Given the description of an element on the screen output the (x, y) to click on. 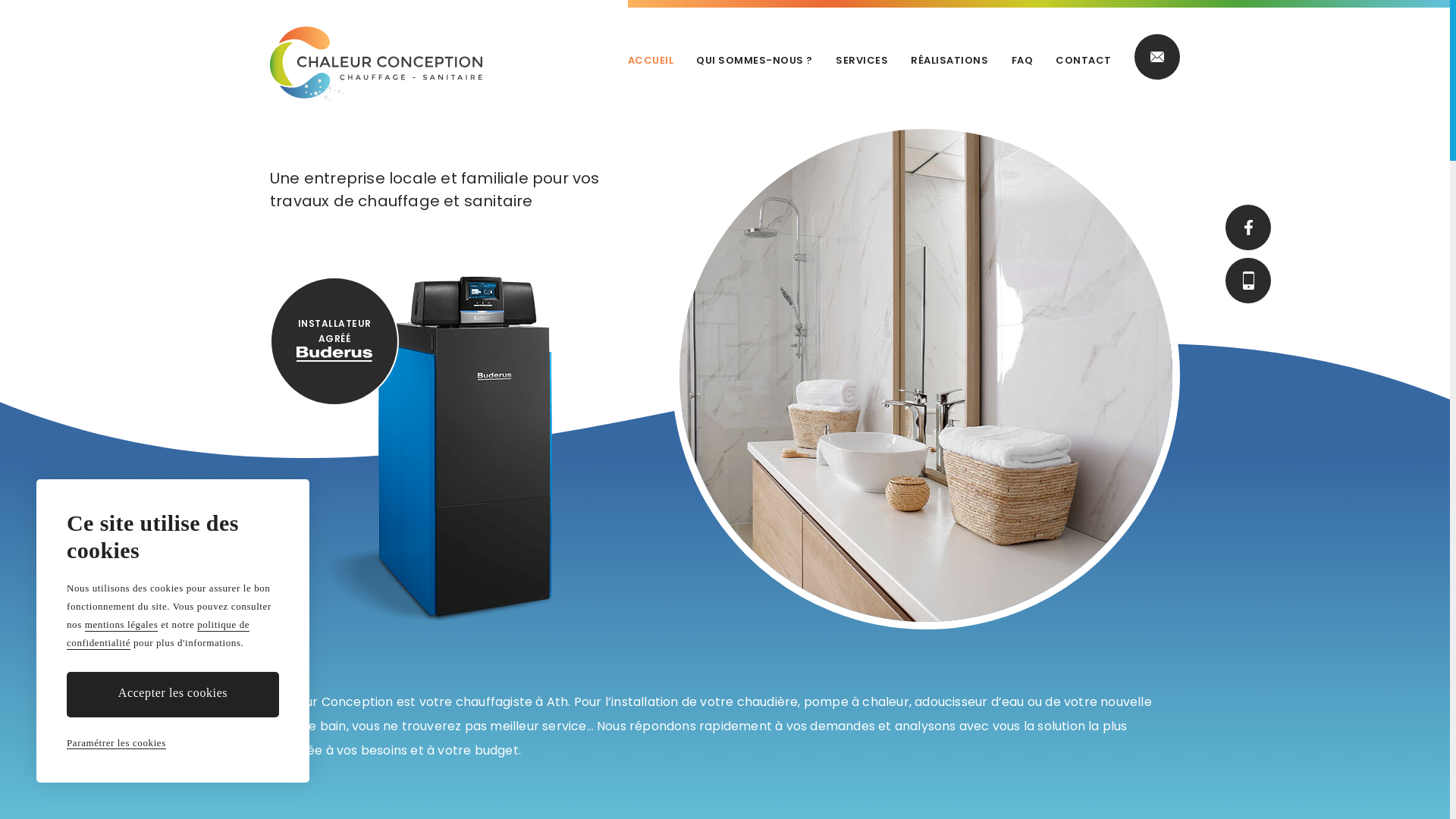
QUI SOMMES-NOUS ? Element type: text (754, 60)
Facebook Element type: hover (1247, 227)
FAQ Element type: text (1022, 60)
ACCUEIL Element type: text (650, 60)
Accueil Element type: hover (375, 64)
SERVICES Element type: text (861, 60)
CONTACT Element type: text (1083, 60)
mail Element type: hover (1156, 56)
0496 76 42 60 Element type: hover (1247, 280)
